Given the description of an element on the screen output the (x, y) to click on. 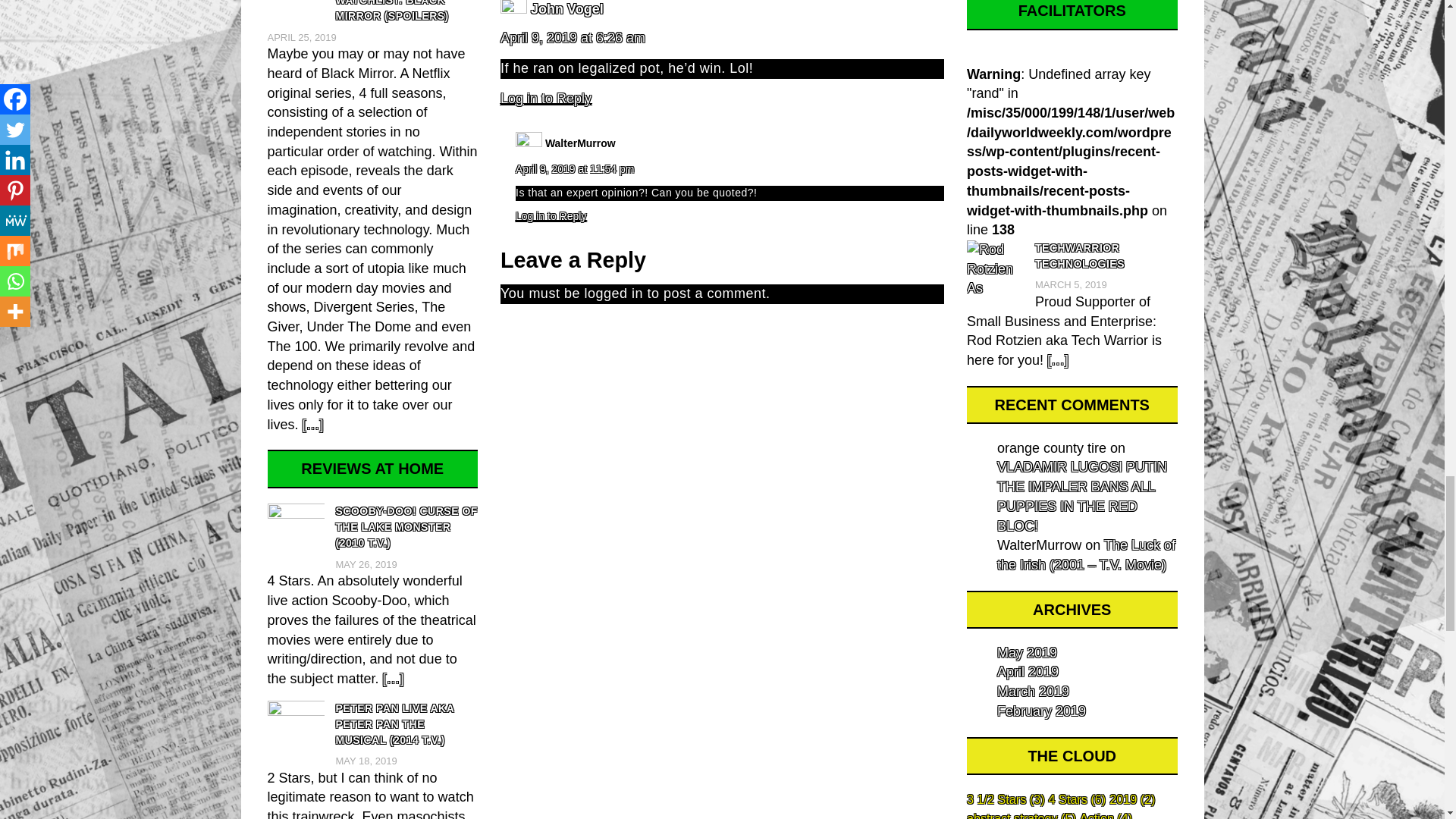
John Vogel (567, 8)
logged in (613, 293)
April 9, 2019 at 11:54 pm (574, 168)
April 9, 2019 at 6:26 am (572, 37)
Log in to Reply (545, 98)
Log in to Reply (550, 215)
